Given the description of an element on the screen output the (x, y) to click on. 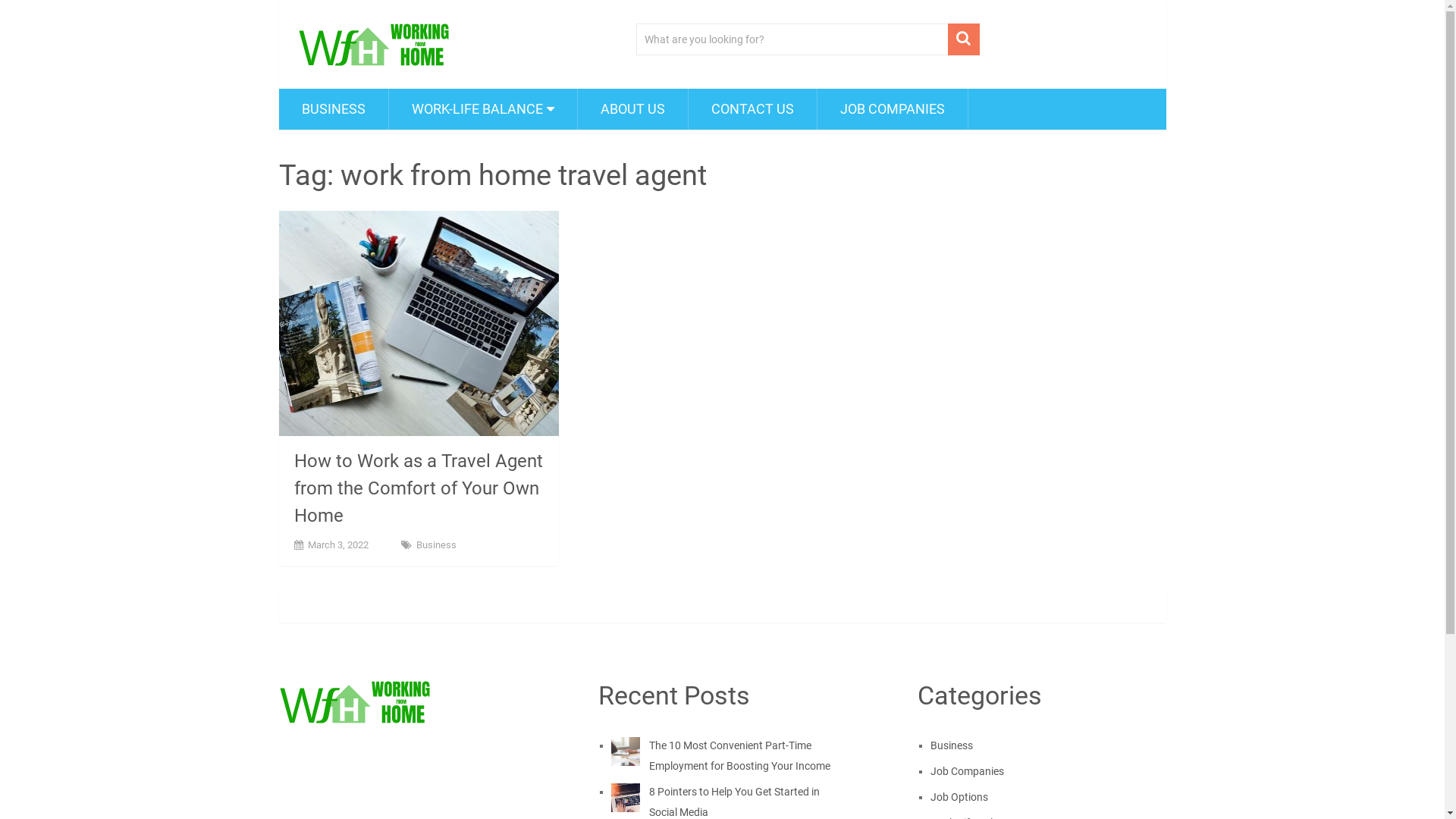
BUSINESS Element type: text (333, 108)
JOB COMPANIES Element type: text (892, 108)
CONTACT US Element type: text (752, 108)
Business Element type: text (951, 745)
Job Companies Element type: text (967, 771)
8 Pointers to Help You Get Started in Social Media Element type: text (734, 801)
Business Element type: text (435, 544)
ABOUT US Element type: text (632, 108)
Job Options Element type: text (959, 796)
WORK-LIFE BALANCE Element type: text (482, 108)
